Given the description of an element on the screen output the (x, y) to click on. 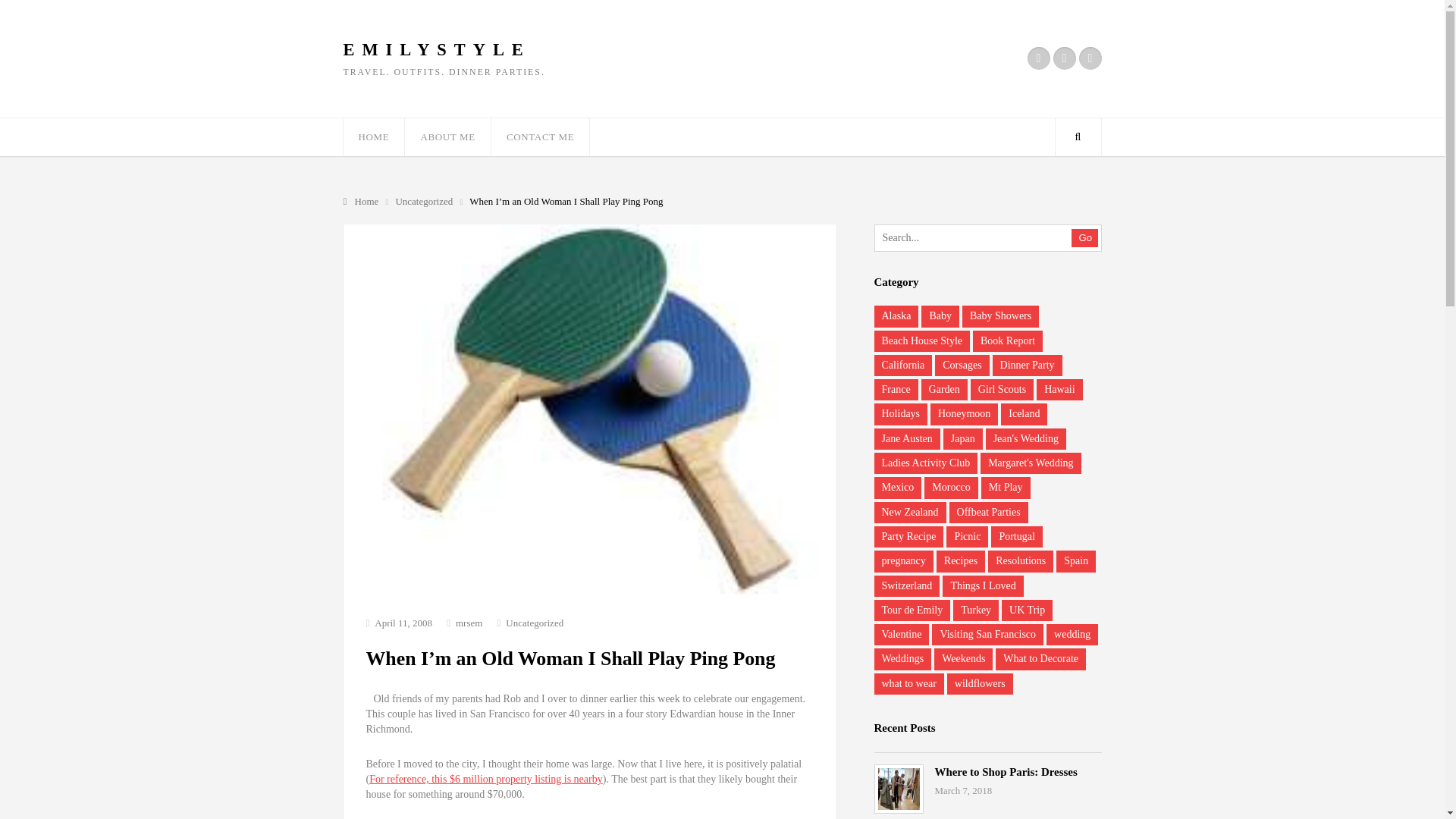
Search (1077, 136)
HOME (373, 136)
Pinterest (1089, 57)
ABOUT ME (447, 136)
CONTACT ME (540, 136)
Posts by mrsem (468, 622)
Baby (940, 315)
Alaska (895, 315)
Flickr (1037, 57)
Go (1083, 238)
